Given the description of an element on the screen output the (x, y) to click on. 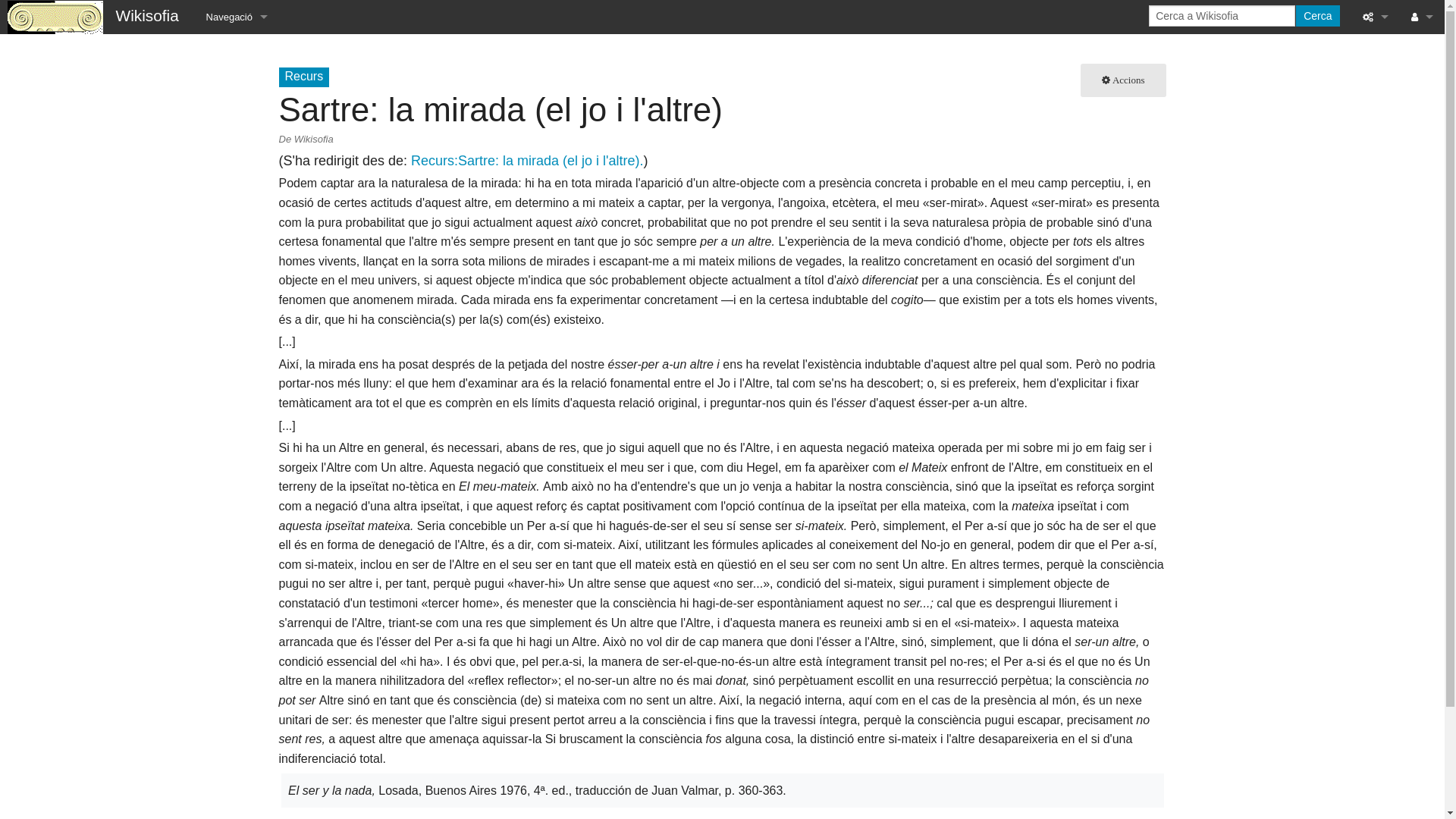
Recurs:Sartre: la mirada (el jo i l'altre). Element type: text (527, 160)
Cerca Element type: text (1317, 15)
Wikisofia Element type: text (96, 15)
Canvis relacionats Element type: text (1375, 85)
Explora les propietats Element type: text (1375, 255)
Cerca a Wikisofia [alt-shift-f] Element type: hover (1221, 15)
Canvis recents Element type: text (236, 85)
Ajuda Element type: text (1375, 324)
Ajuda de MediaWiki Element type: text (236, 153)
 Accions Element type: text (1123, 80)
Canvis recents Element type: text (1375, 290)
